Given the description of an element on the screen output the (x, y) to click on. 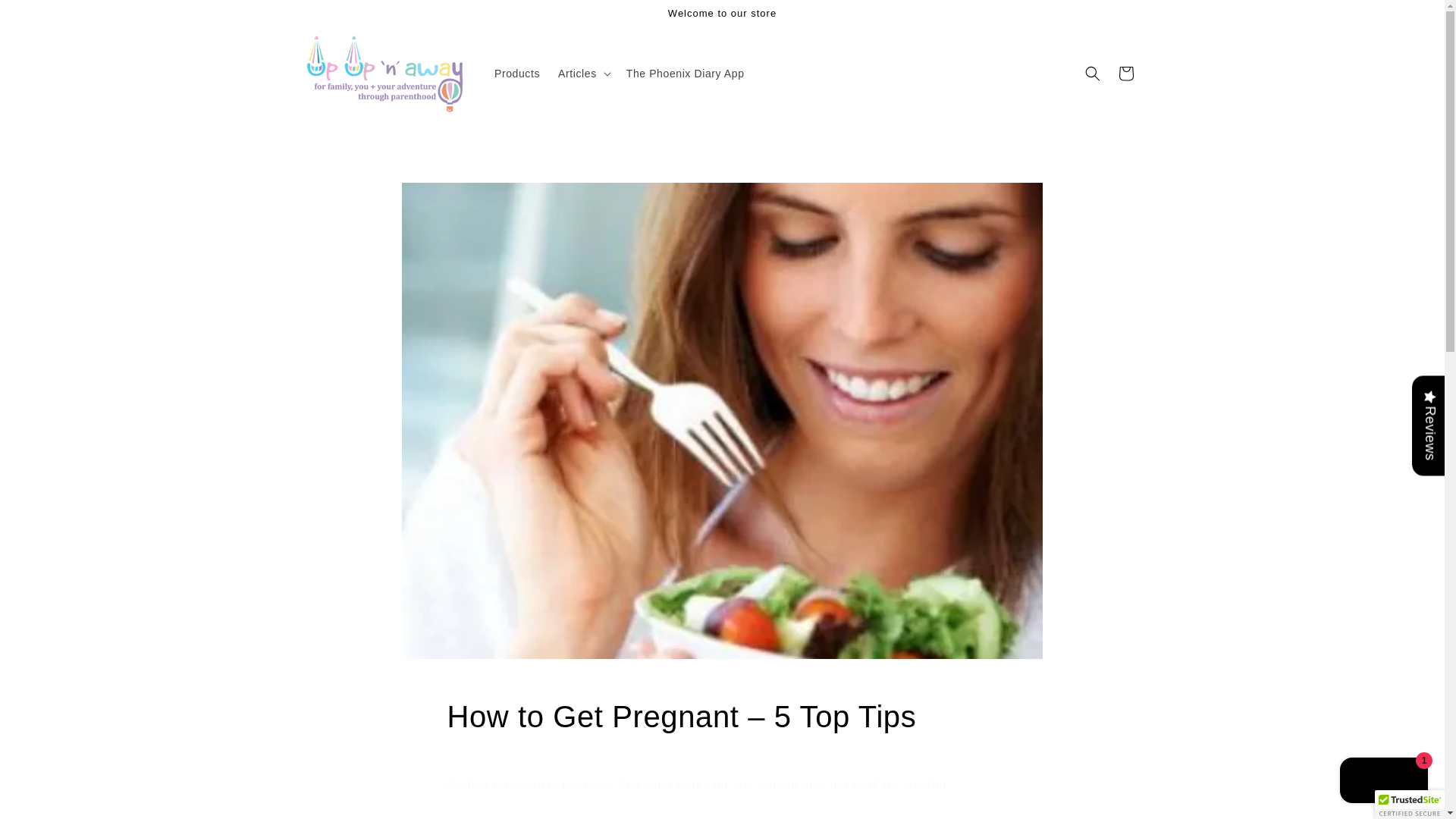
Shopify online store chat (1383, 781)
Skip to content (45, 17)
Cart (1124, 73)
The Phoenix Diary App (685, 73)
Products (516, 73)
